Given the description of an element on the screen output the (x, y) to click on. 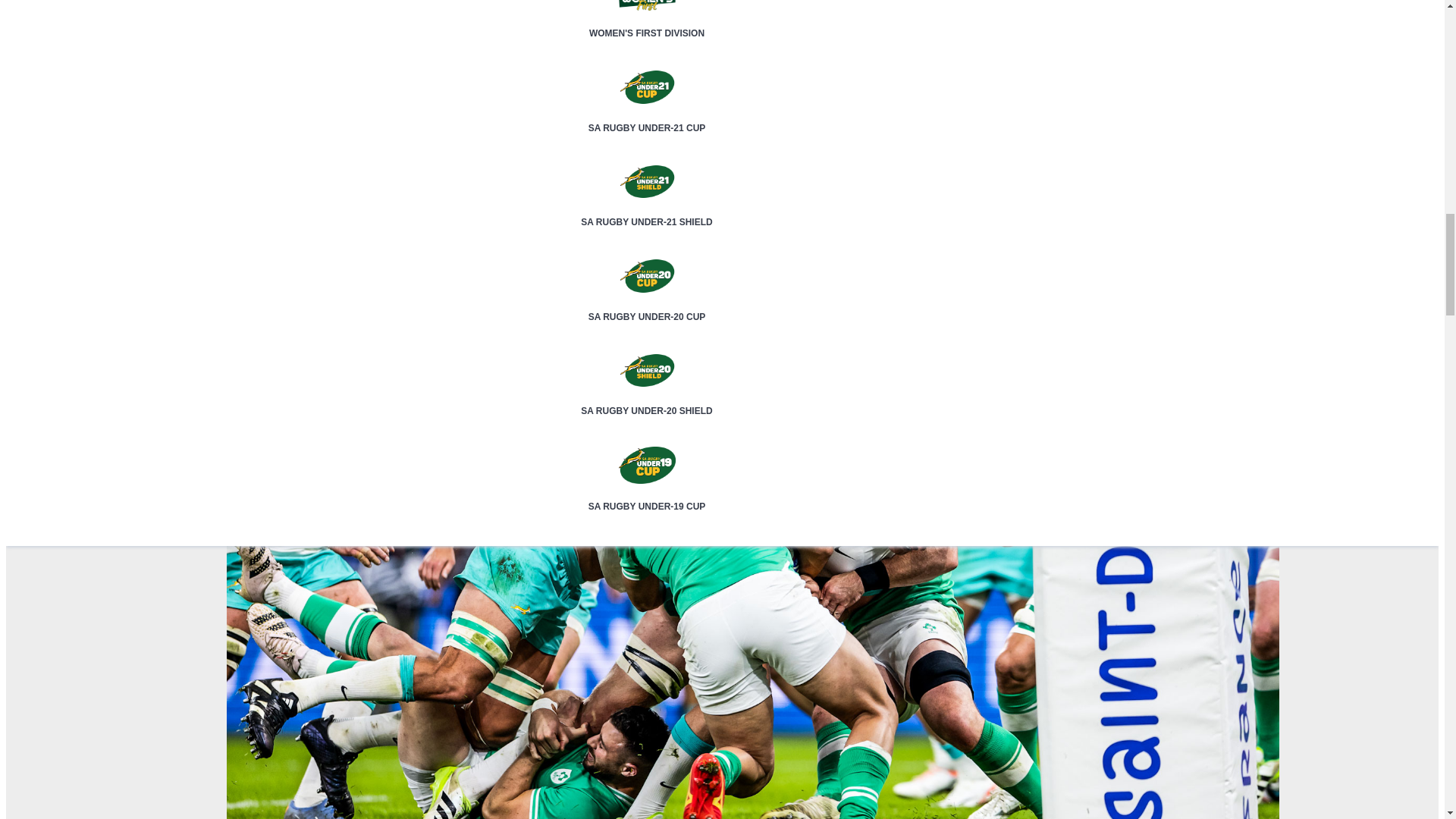
SA RUGBY UNDER-19 CUP (647, 493)
WOMEN'S FIRST DIVISION (647, 20)
SA RUGBY UNDER-20 SHIELD (647, 398)
SA RUGBY UNDER-20 CUP (647, 303)
SA RUGBY UNDER-21 SHIELD (647, 208)
SA RUGBY UNDER-21 CUP (647, 115)
